Given the description of an element on the screen output the (x, y) to click on. 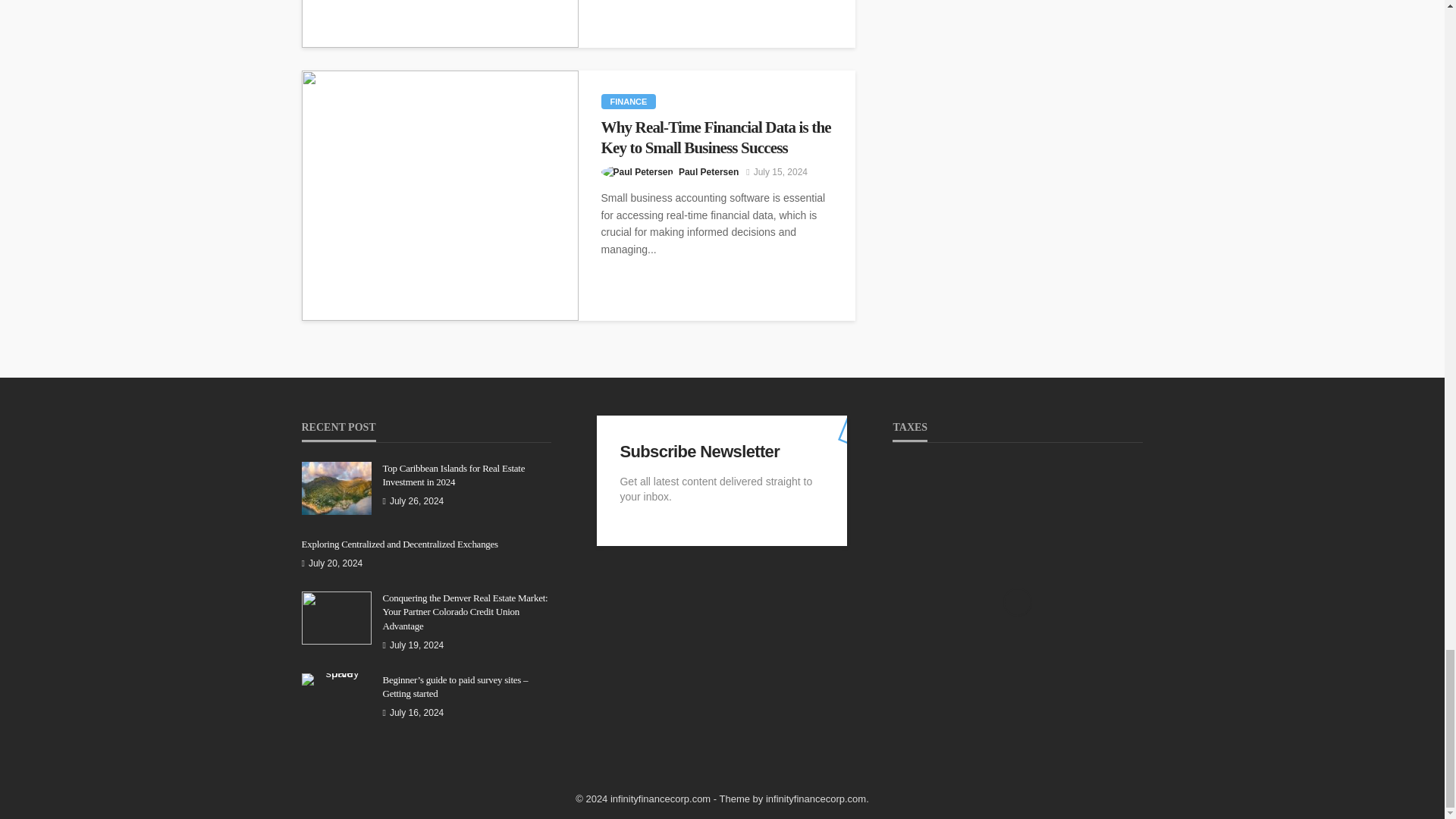
Finance (627, 101)
Tips for Planning Your Dream Vacation in Belize (439, 23)
